Given the description of an element on the screen output the (x, y) to click on. 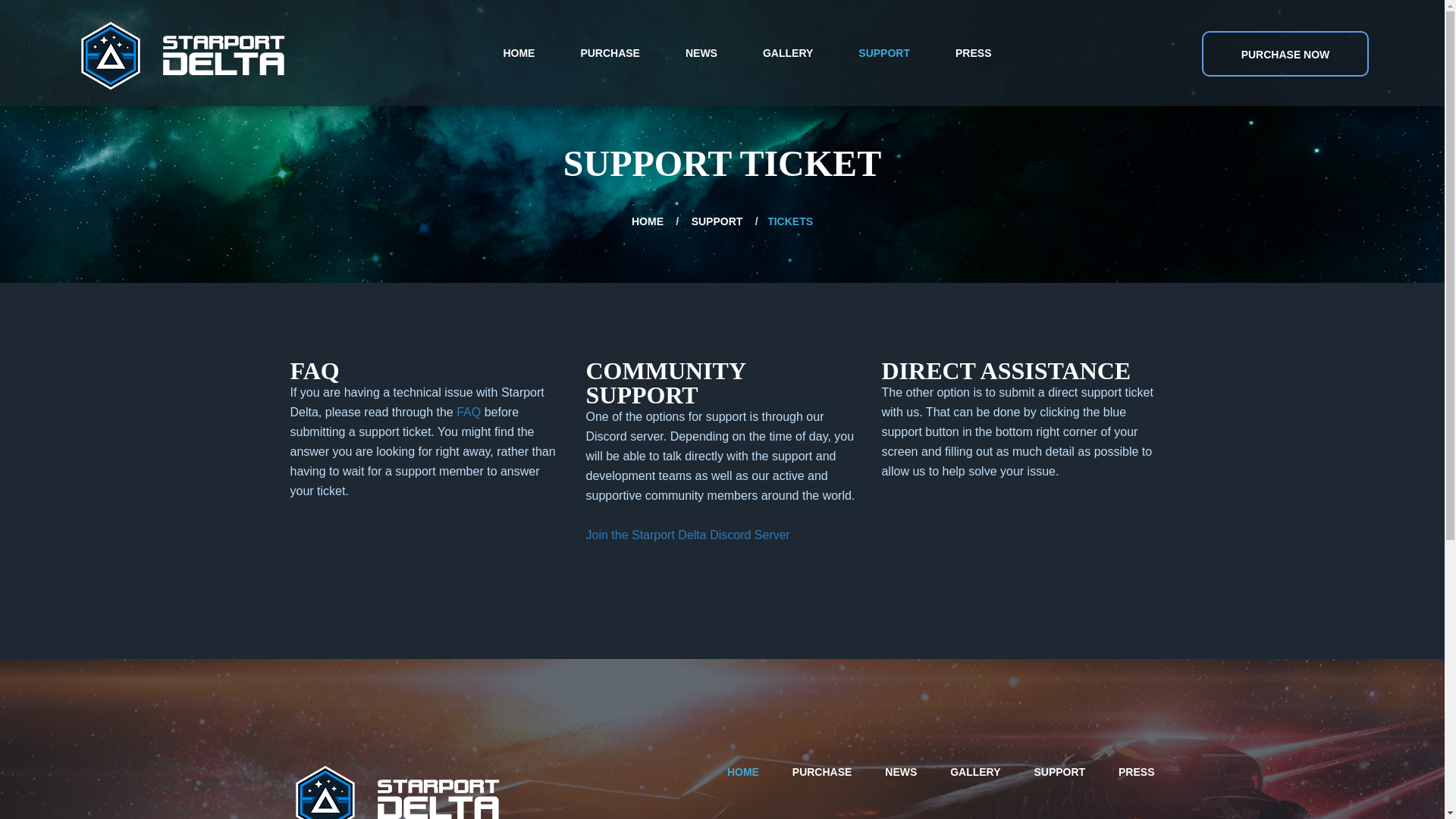
SUPPORT (716, 222)
GALLERY (975, 771)
HOME (742, 771)
PURCHASE NOW (1285, 53)
PRESS (1136, 771)
HOME (646, 222)
SUPPORT (1058, 771)
Join the Starport Delta Discord Server (687, 534)
FAQ (468, 411)
PURCHASE (821, 771)
